Given the description of an element on the screen output the (x, y) to click on. 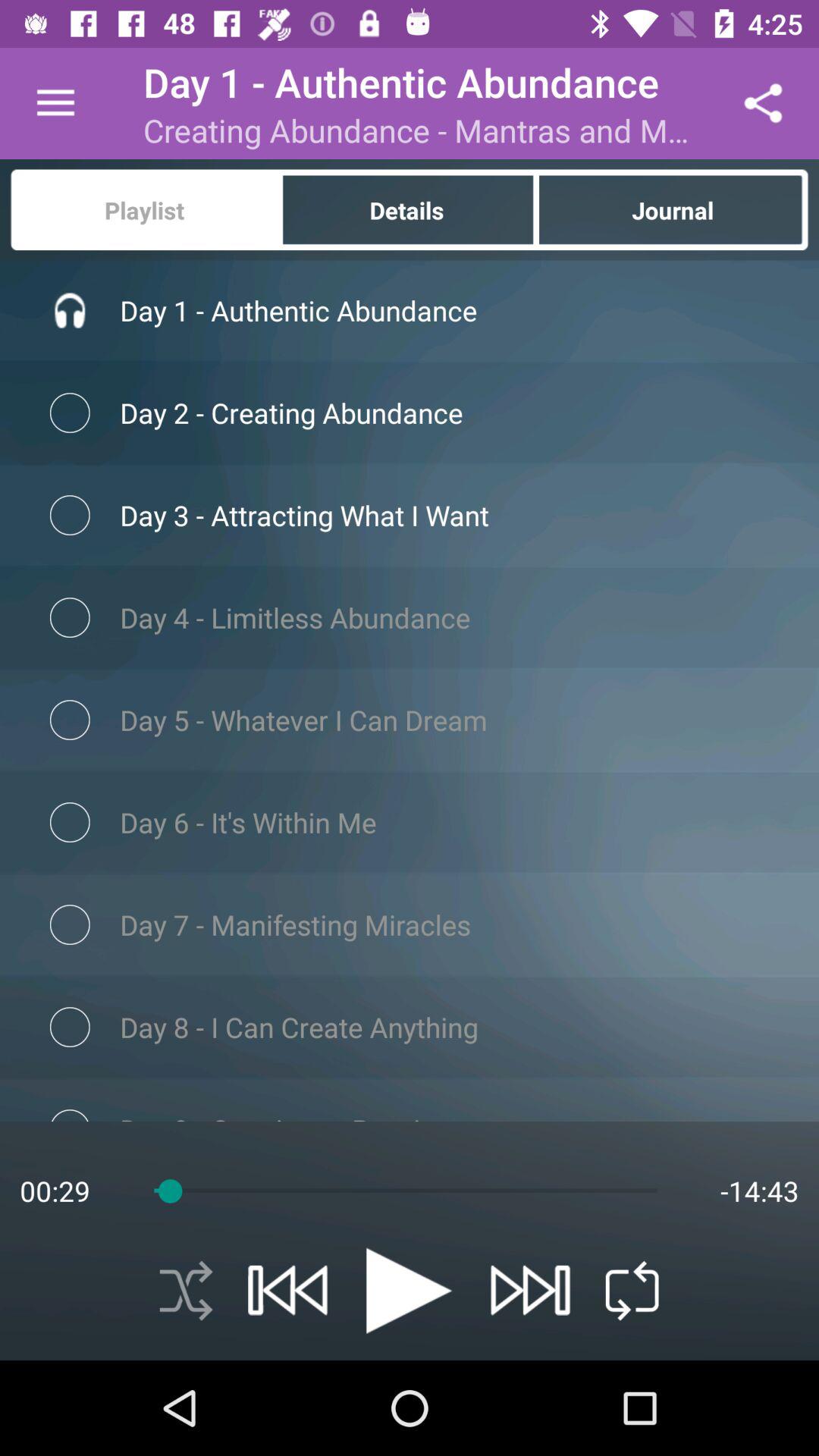
tap the item above journal item (763, 103)
